Given the description of an element on the screen output the (x, y) to click on. 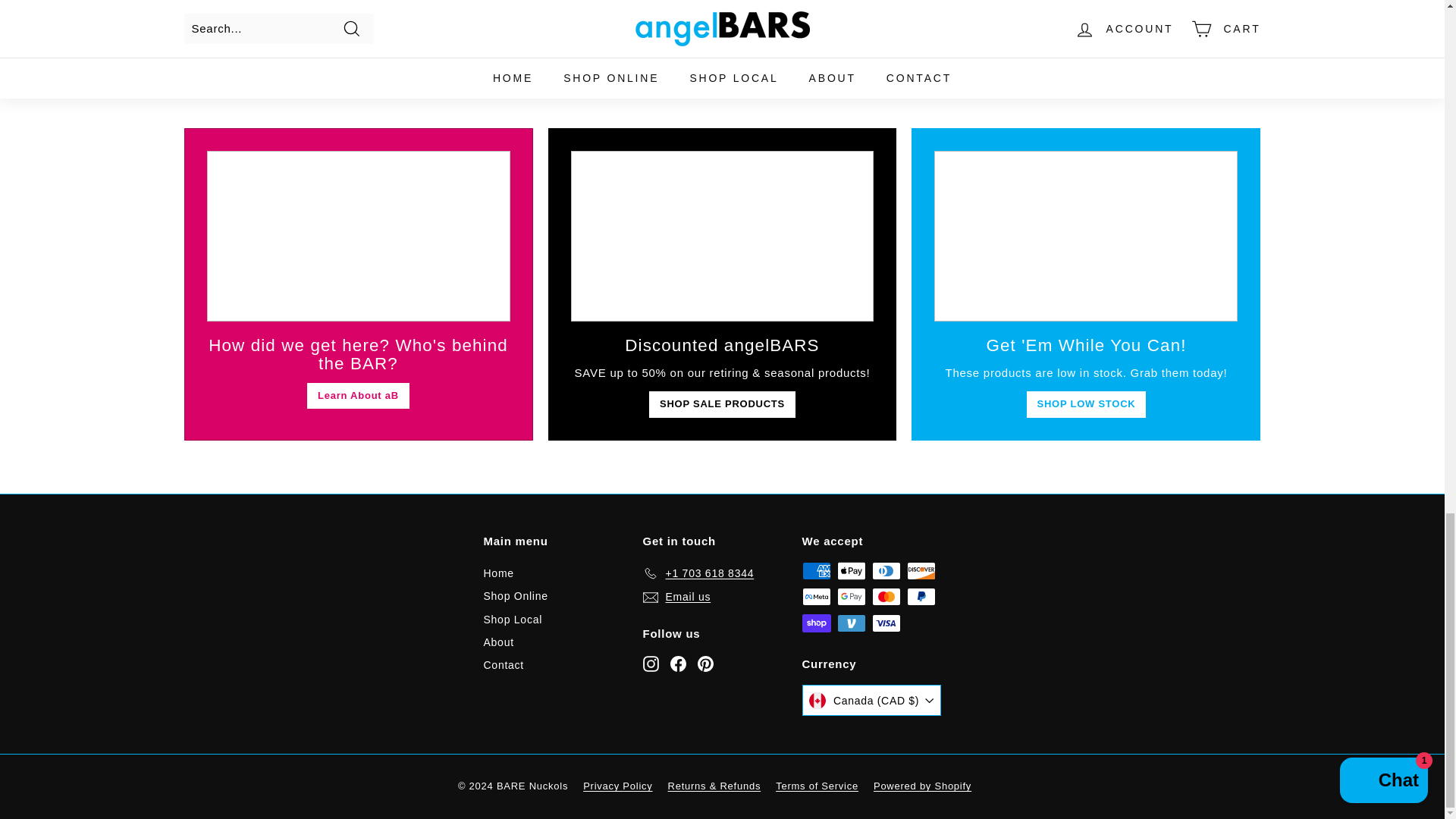
Diners Club (886, 570)
BARE Nuckols on Pinterest (705, 662)
American Express (816, 570)
BARE Nuckols on Facebook (677, 662)
Apple Pay (851, 570)
BARE Nuckols on Instagram (651, 662)
